Given the description of an element on the screen output the (x, y) to click on. 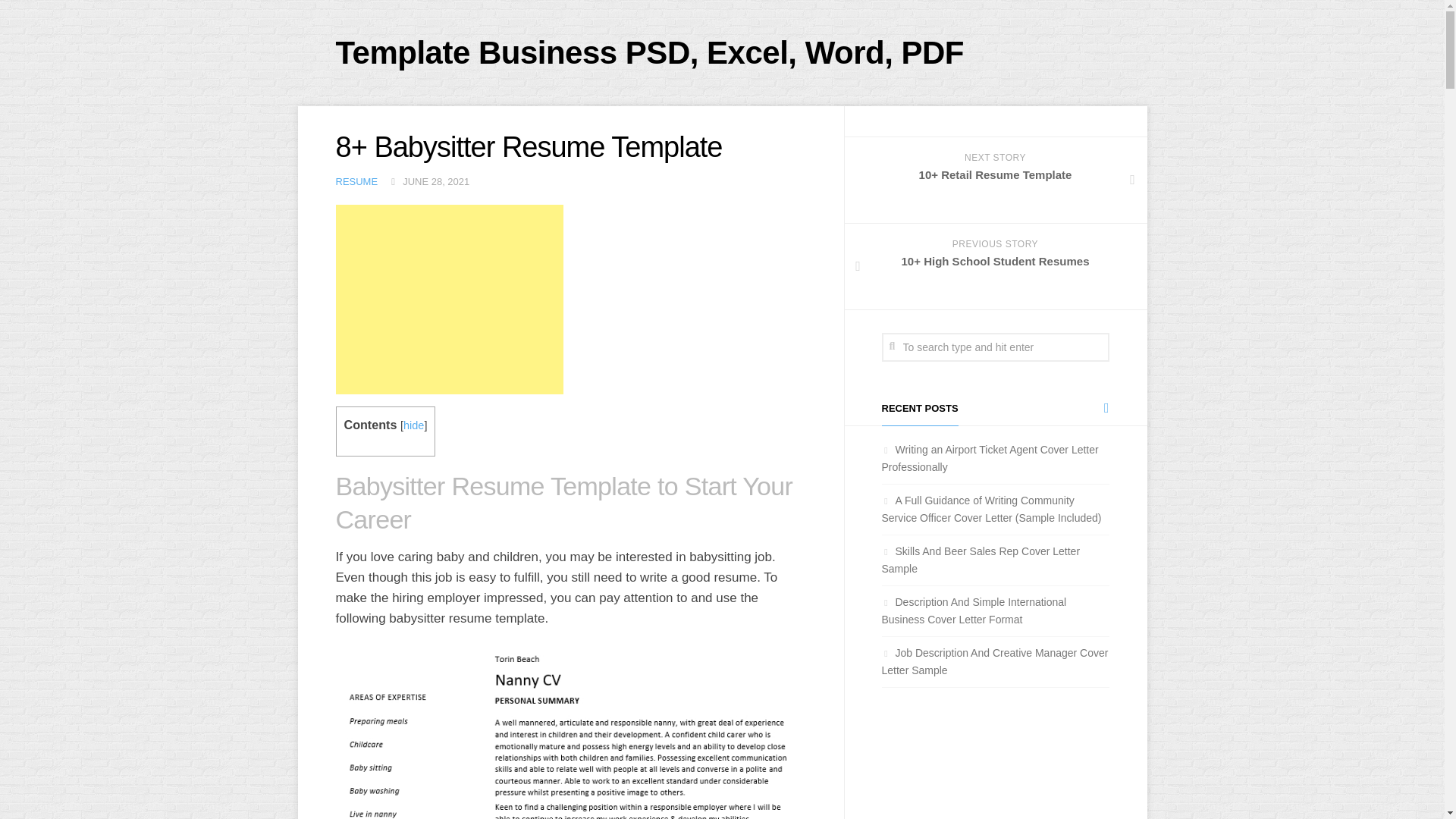
Writing an Airport Ticket Agent Cover Letter Professionally (988, 458)
RESUME (355, 181)
Skills And Beer Sales Rep Cover Letter Sample (980, 559)
Advertisement (448, 298)
Job Description And Creative Manager Cover Letter Sample (994, 661)
Template Business PSD, Excel, Word, PDF (648, 53)
hide (413, 425)
To search type and hit enter (994, 346)
To search type and hit enter (994, 346)
